Given the description of an element on the screen output the (x, y) to click on. 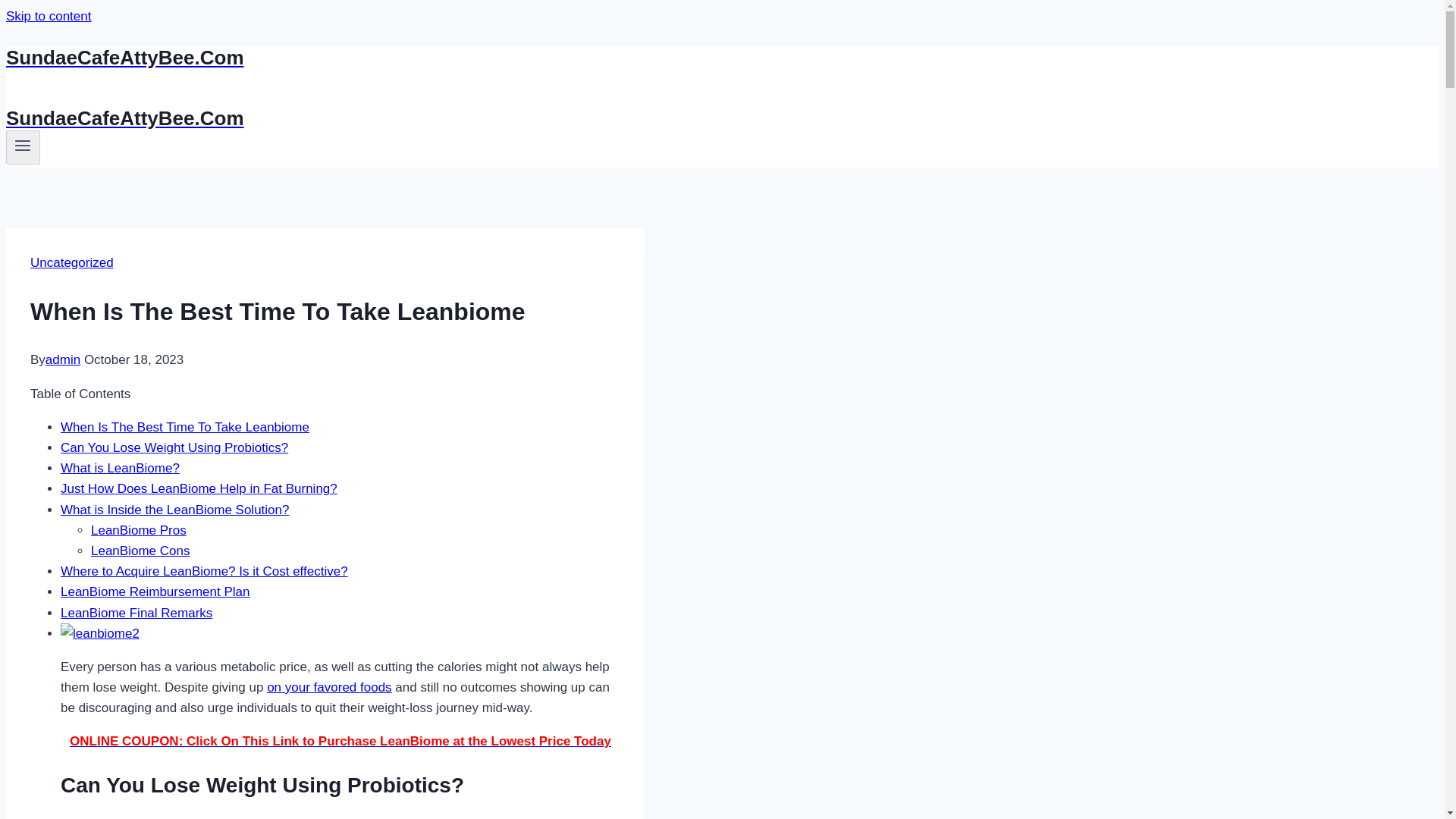
Just How Does LeanBiome Help in Fat Burning? (199, 488)
When Is The Best Time To Take Leanbiome (184, 427)
LeanBiome Cons (139, 550)
LeanBiome Final Remarks (136, 612)
Just How Does LeanBiome Help in Fat Burning? (199, 488)
LeanBiome Final Remarks (136, 612)
admin (62, 359)
LeanBiome Pros (138, 530)
Can You Lose Weight Using Probiotics? (174, 447)
Skip to content (47, 16)
